Given the description of an element on the screen output the (x, y) to click on. 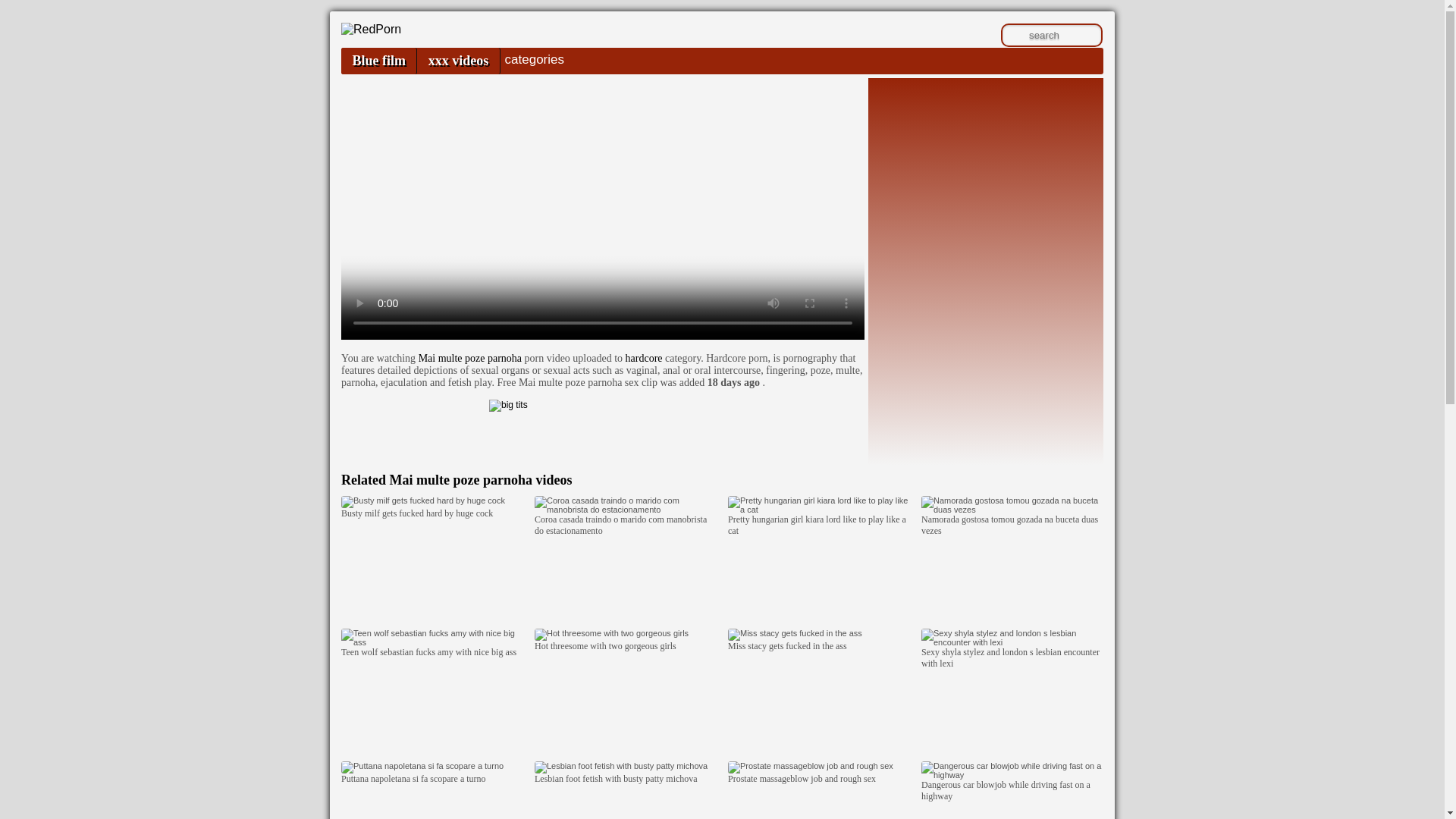
Mai multe poze parnoha (470, 357)
Indian Porn (370, 29)
xxx videos (457, 60)
Blue film (378, 60)
xxx videos (457, 60)
hardcore (644, 357)
Mai multe poze parnoha videos (480, 479)
categories (533, 59)
Blue film (378, 60)
